Given the description of an element on the screen output the (x, y) to click on. 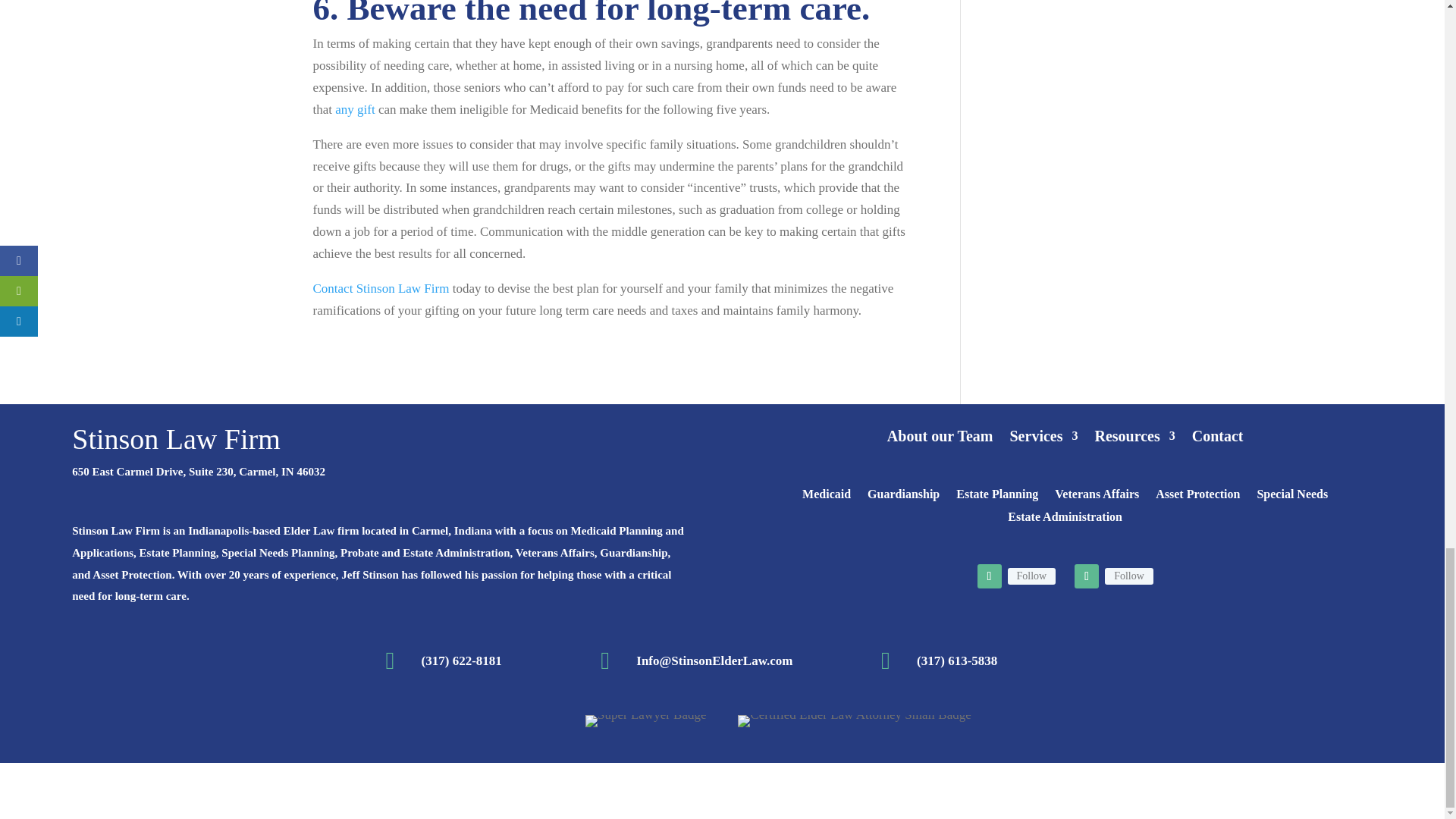
About our Team (939, 438)
Contact (1217, 438)
Follow on LinkedIn (1086, 576)
mybadge (645, 720)
Contact Stinson Law Firm (380, 288)
Facebook (1031, 576)
CELA badge sm (854, 720)
Follow on Facebook (988, 576)
Services (1044, 438)
Resources (1134, 438)
any gift (354, 109)
Medicaid (826, 497)
LinkedIn (1129, 576)
Guardianship (903, 497)
